Given the description of an element on the screen output the (x, y) to click on. 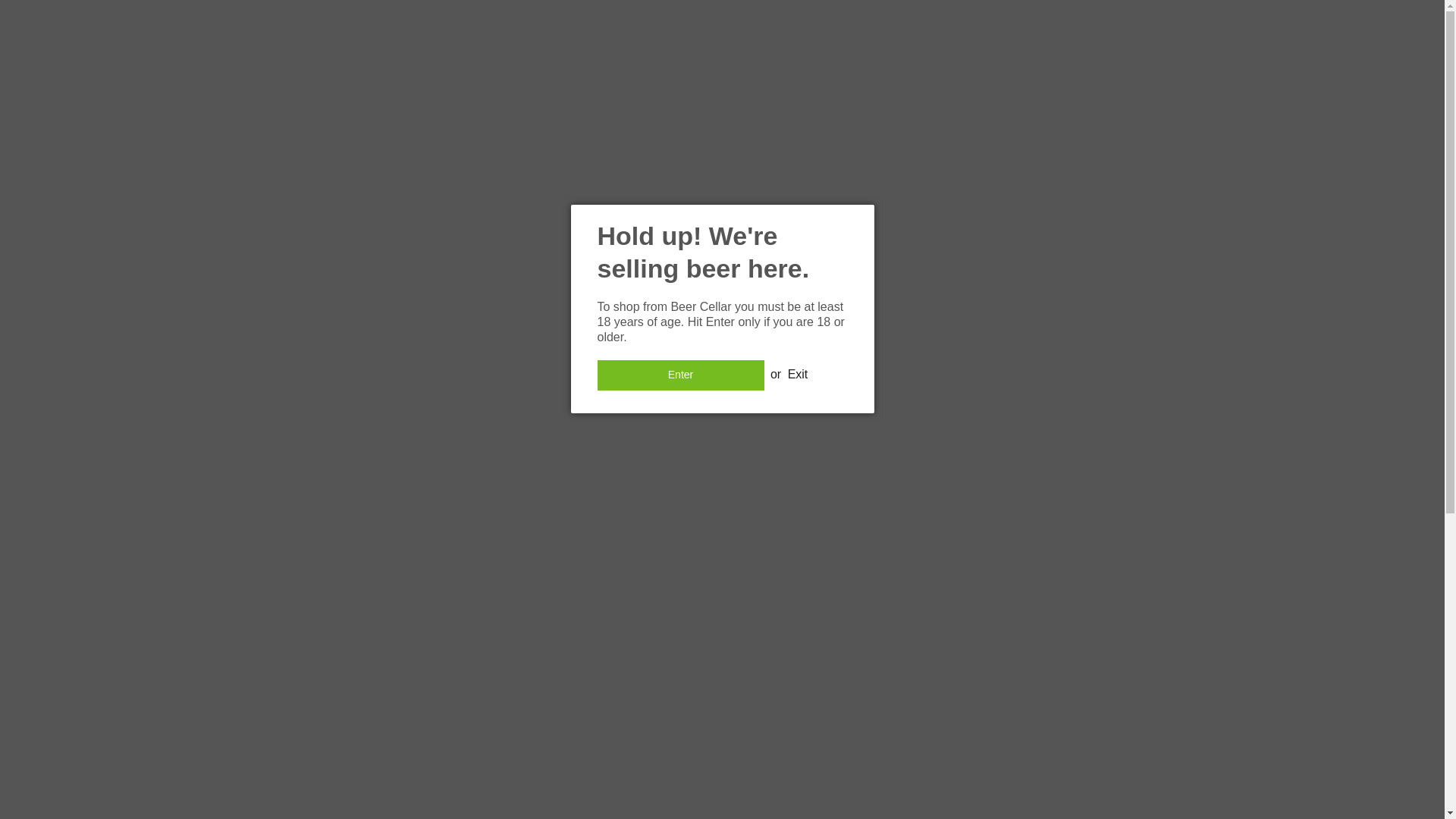
1 (941, 496)
Log in (1318, 14)
Add to Cart (941, 542)
Cart (1280, 14)
Search (1245, 14)
